Given the description of an element on the screen output the (x, y) to click on. 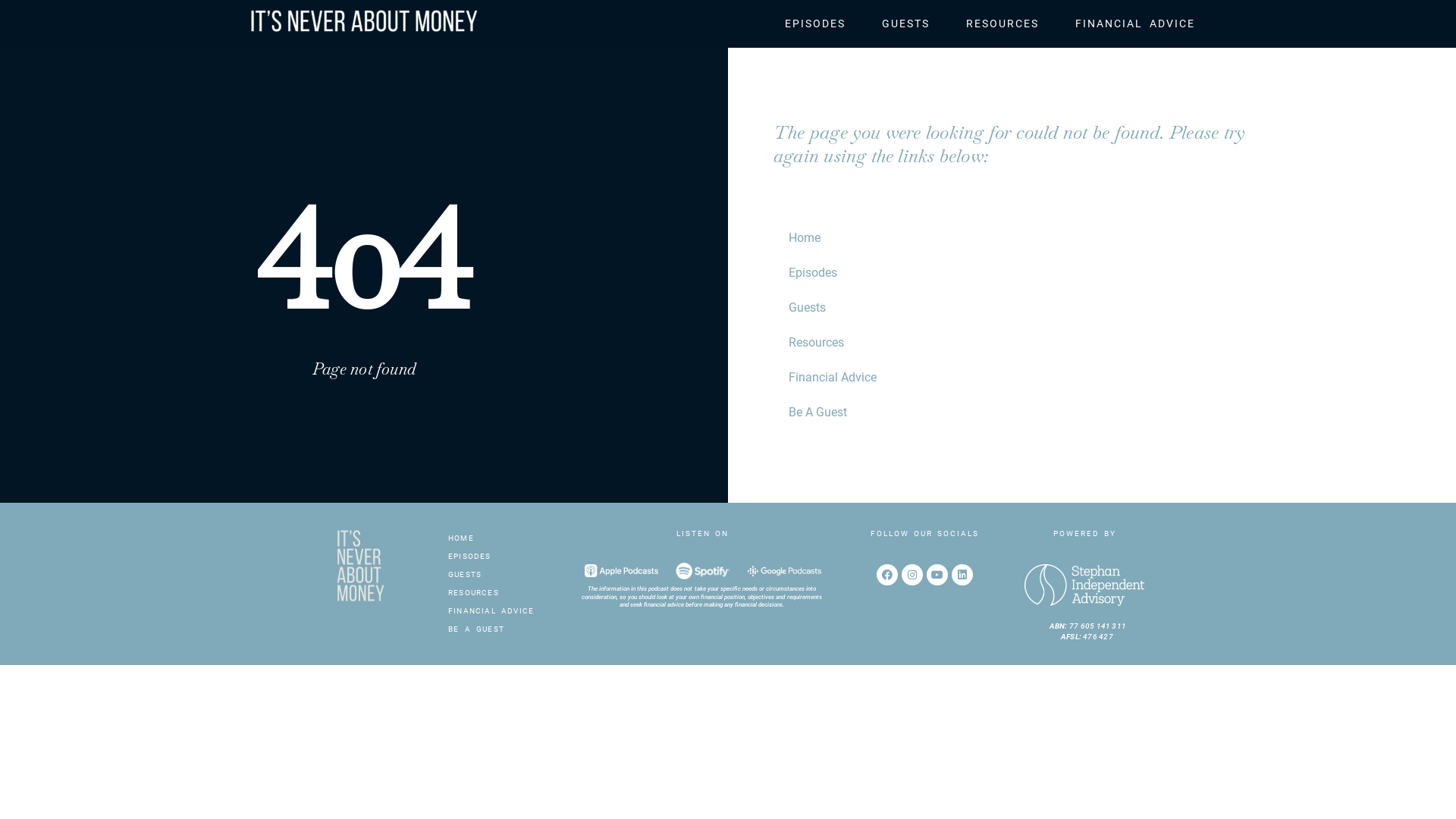
BE A GUEST Element type: text (499, 629)
FINANCIAL ADVICE Element type: text (499, 611)
EPISODES Element type: text (499, 556)
Guests Element type: text (1103, 307)
GUESTS Element type: text (905, 23)
HOME Element type: text (499, 538)
Resources Element type: text (1103, 342)
GUESTS Element type: text (499, 574)
RESOURCES Element type: text (1002, 23)
RESOURCES Element type: text (499, 592)
Episodes Element type: text (1103, 272)
FINANCIAL ADVICE Element type: text (1134, 23)
Financial Advice Element type: text (1103, 377)
Home Element type: text (1103, 237)
Be A Guest Element type: text (1103, 412)
EPISODES Element type: text (815, 23)
